Given the description of an element on the screen output the (x, y) to click on. 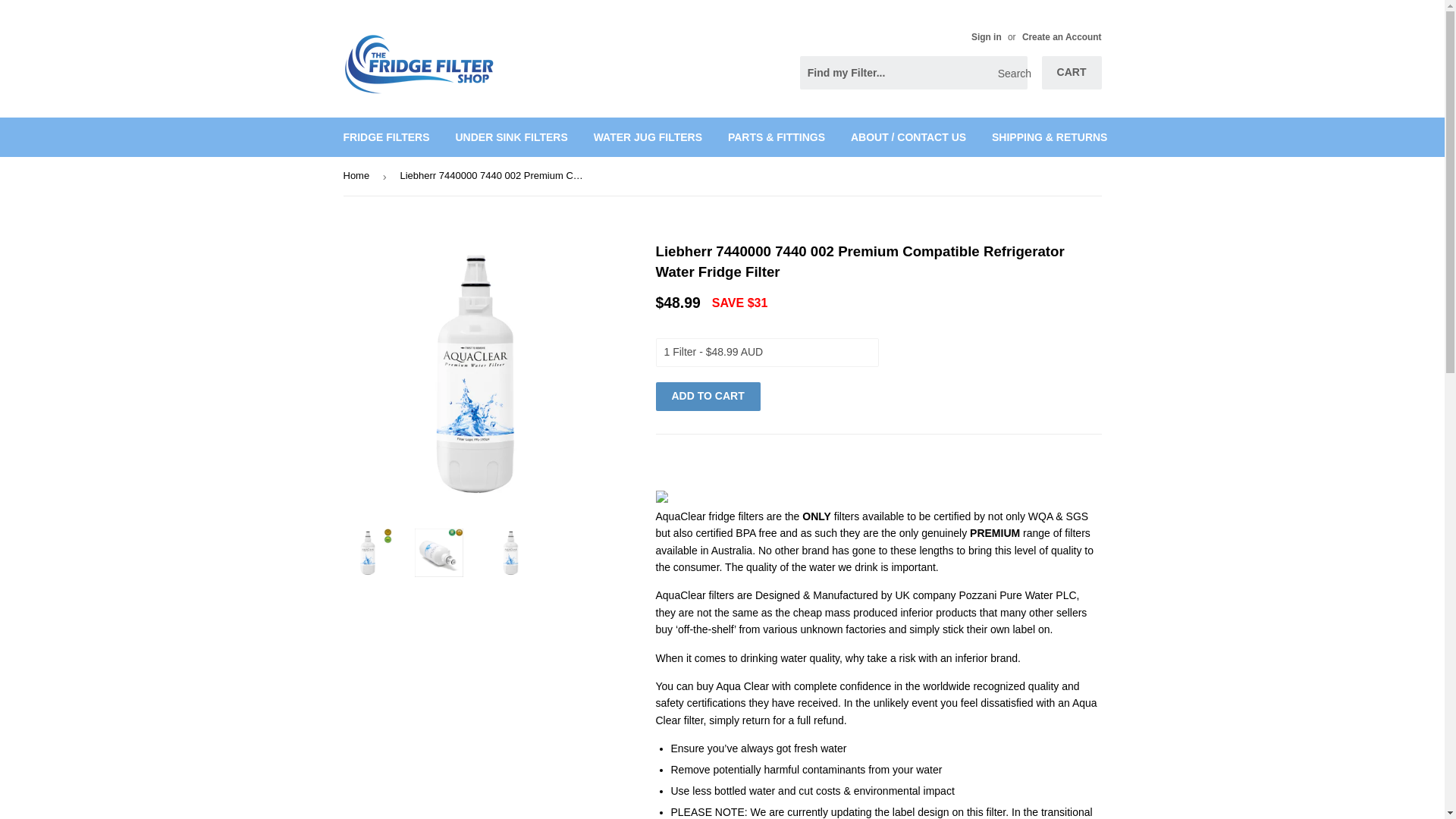
WATER JUG FILTERS (647, 137)
CART (1072, 72)
Sign in (986, 36)
Create an Account (1062, 36)
FRIDGE FILTERS (386, 137)
Search (1009, 73)
UNDER SINK FILTERS (511, 137)
